Given the description of an element on the screen output the (x, y) to click on. 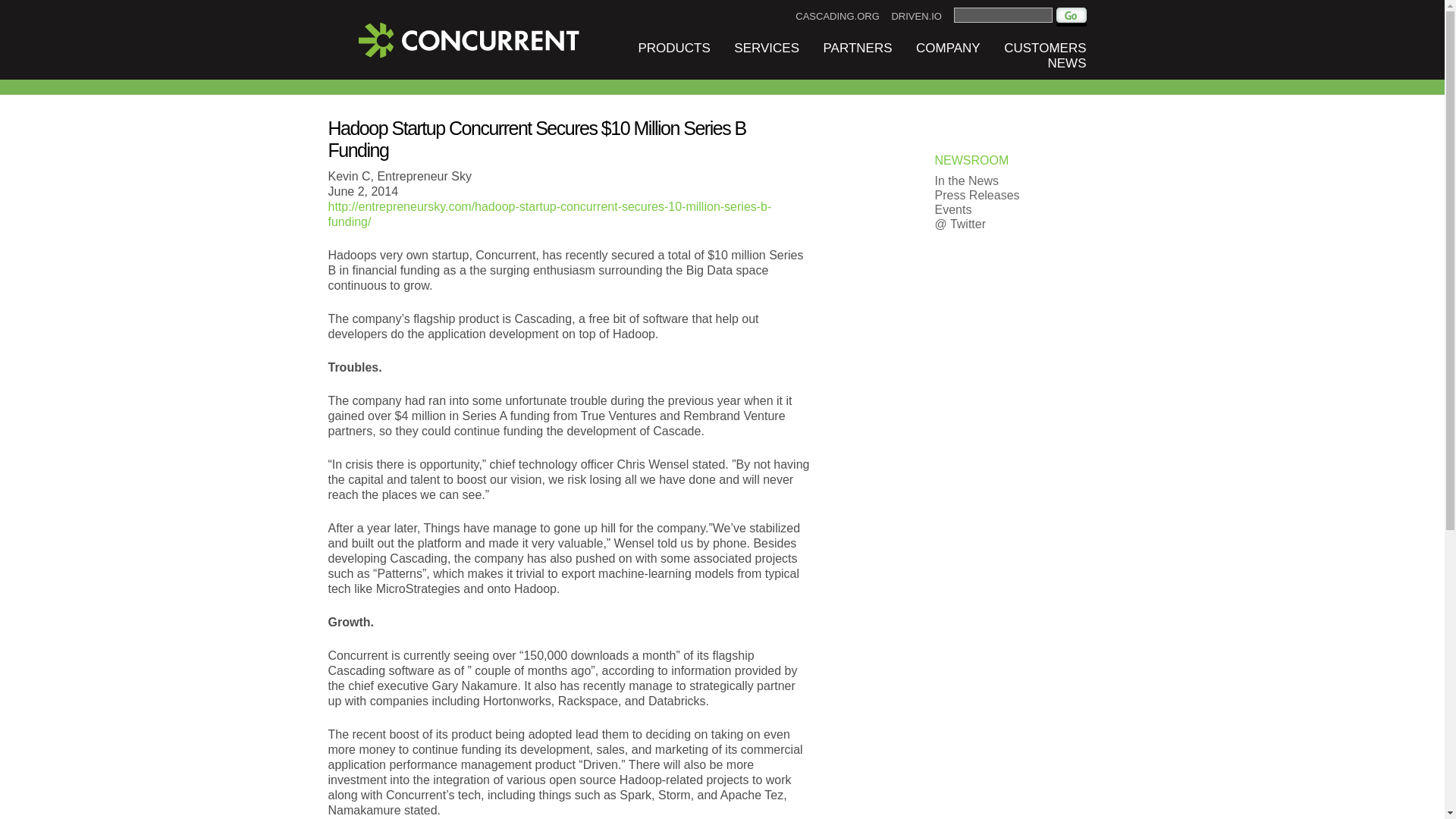
PRODUCTS (673, 47)
CUSTOMERS (1045, 47)
SERVICES (766, 47)
In the News (965, 180)
COMPANY (947, 47)
CASCADING.ORG (836, 16)
search (1070, 16)
search (1002, 14)
PARTNERS (858, 47)
Press Releases (976, 195)
Events (952, 209)
NEWS (1067, 63)
DRIVEN.IO (915, 16)
